Given the description of an element on the screen output the (x, y) to click on. 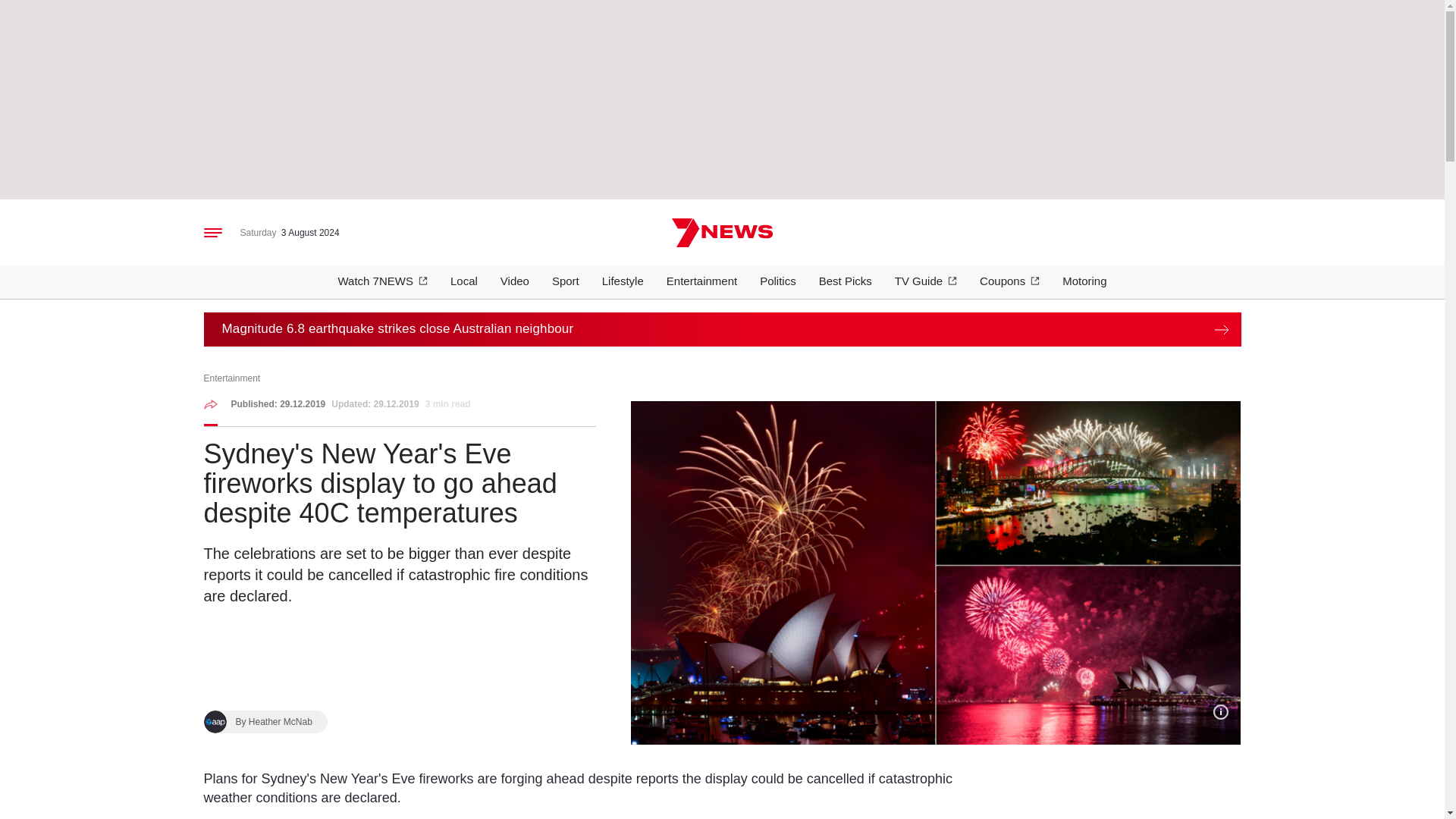
Click to open navigation (212, 232)
